Given the description of an element on the screen output the (x, y) to click on. 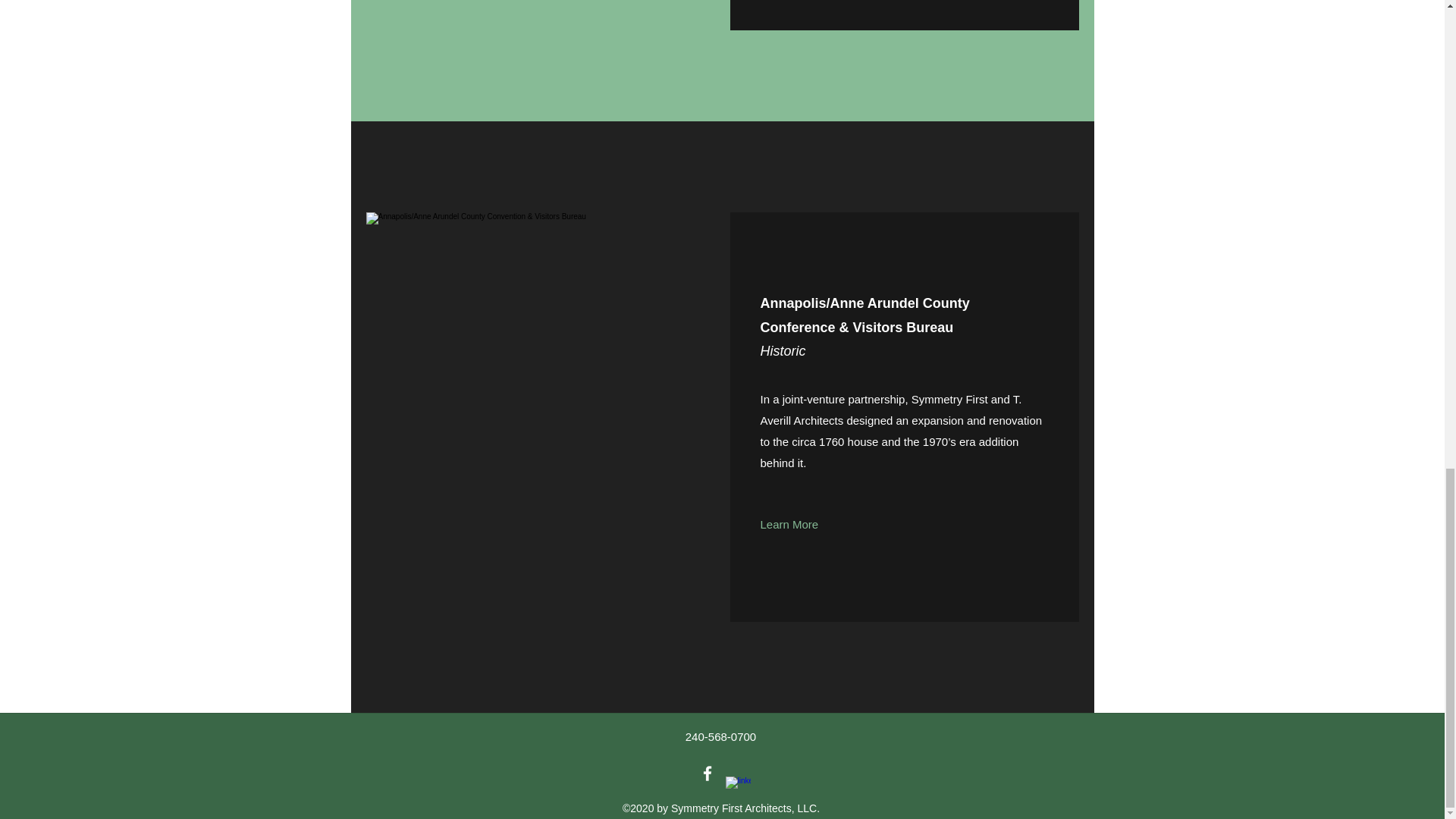
Learn More (789, 524)
